Given the description of an element on the screen output the (x, y) to click on. 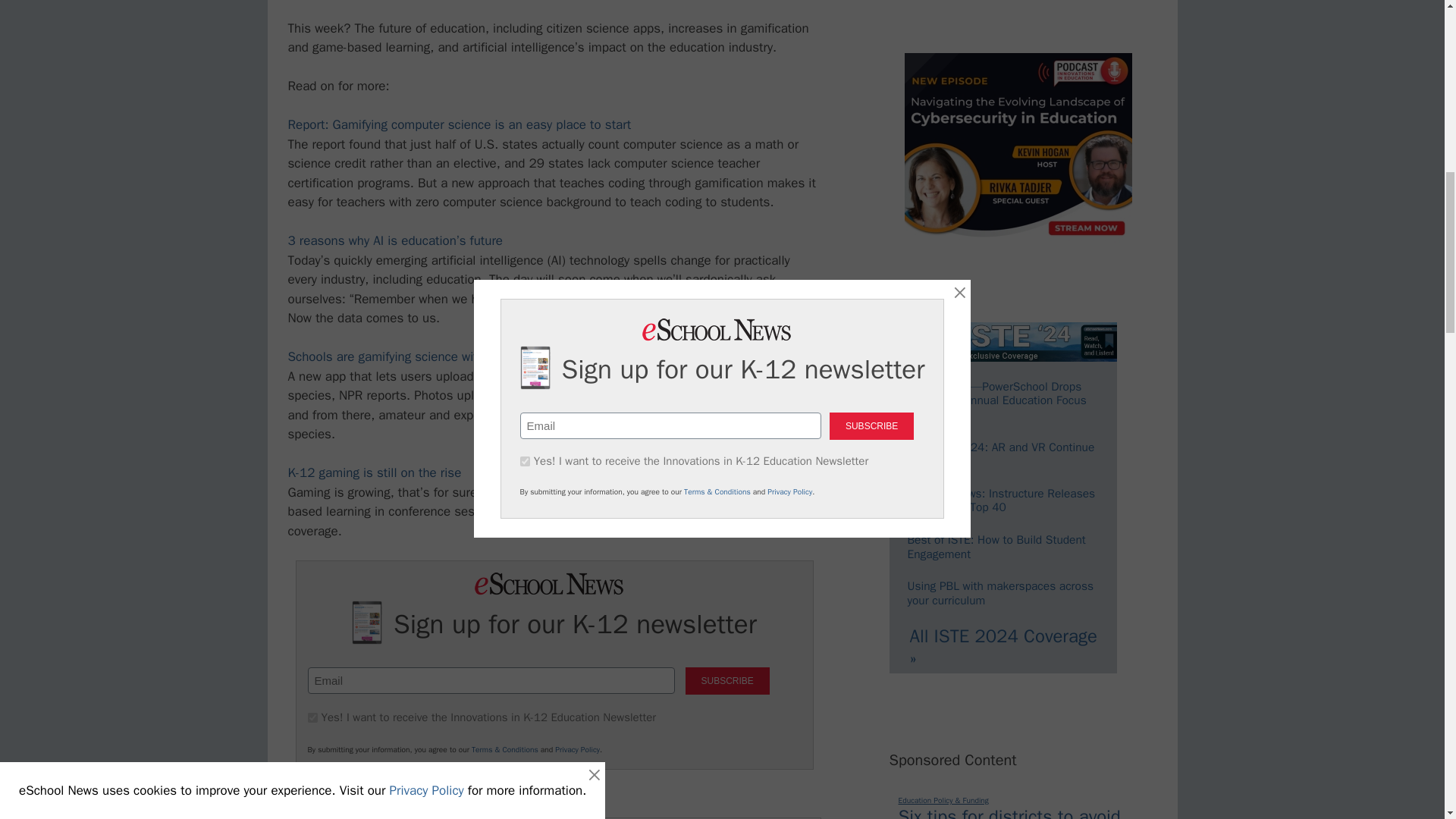
SUBSCRIBE (727, 680)
100 (312, 717)
